Given the description of an element on the screen output the (x, y) to click on. 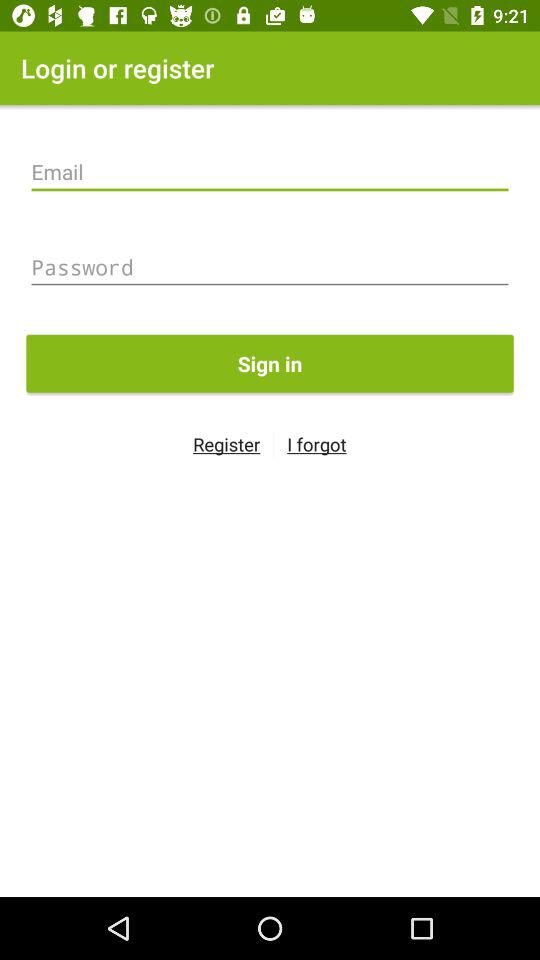
open the i forgot (316, 443)
